Given the description of an element on the screen output the (x, y) to click on. 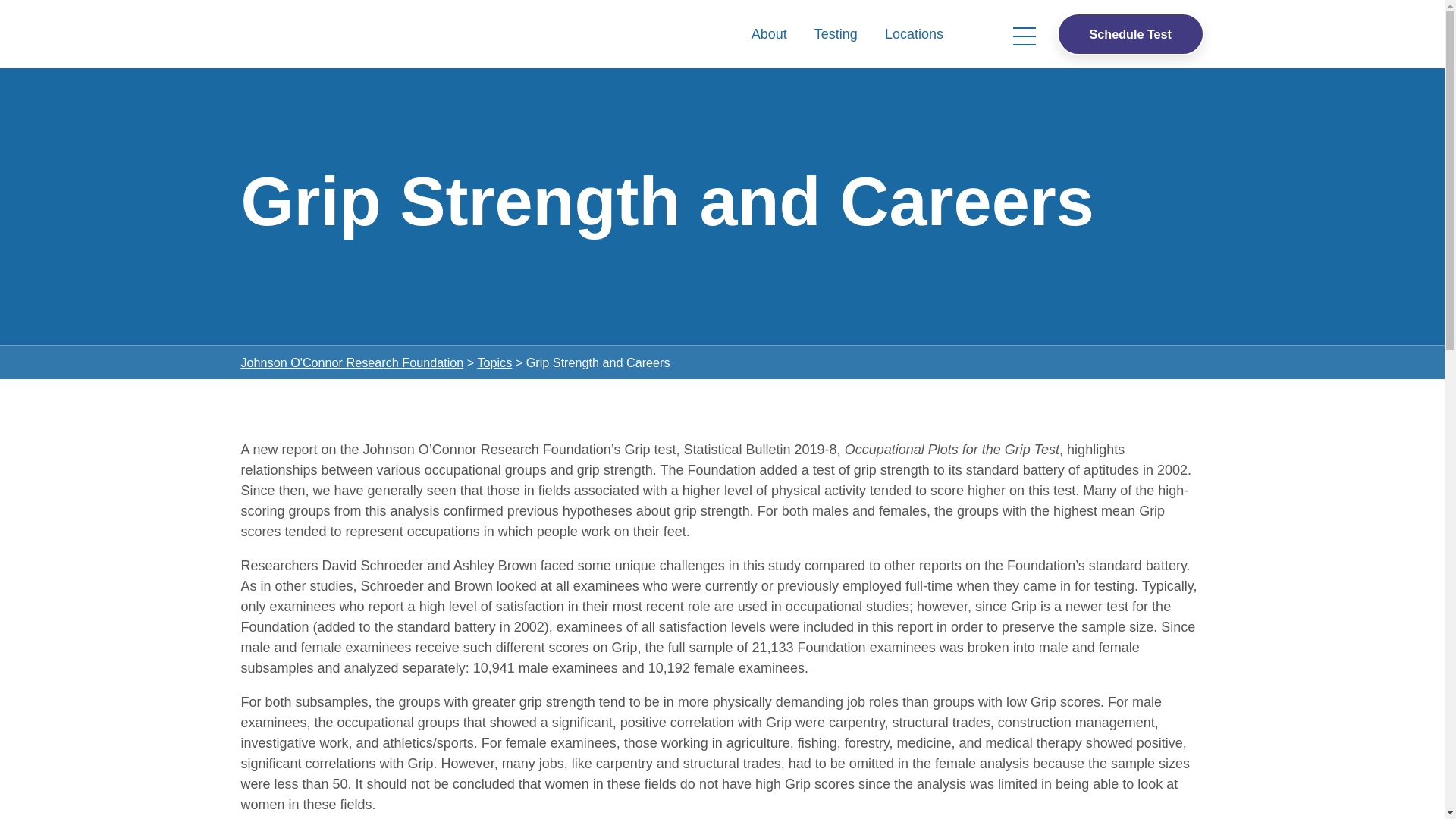
Go to Johnson O'Connor Research Foundation. (352, 362)
Schedule Test (1130, 33)
Locations (913, 33)
Testing (835, 33)
Go to the Topics Research Types archives. (494, 362)
About (769, 33)
